Given the description of an element on the screen output the (x, y) to click on. 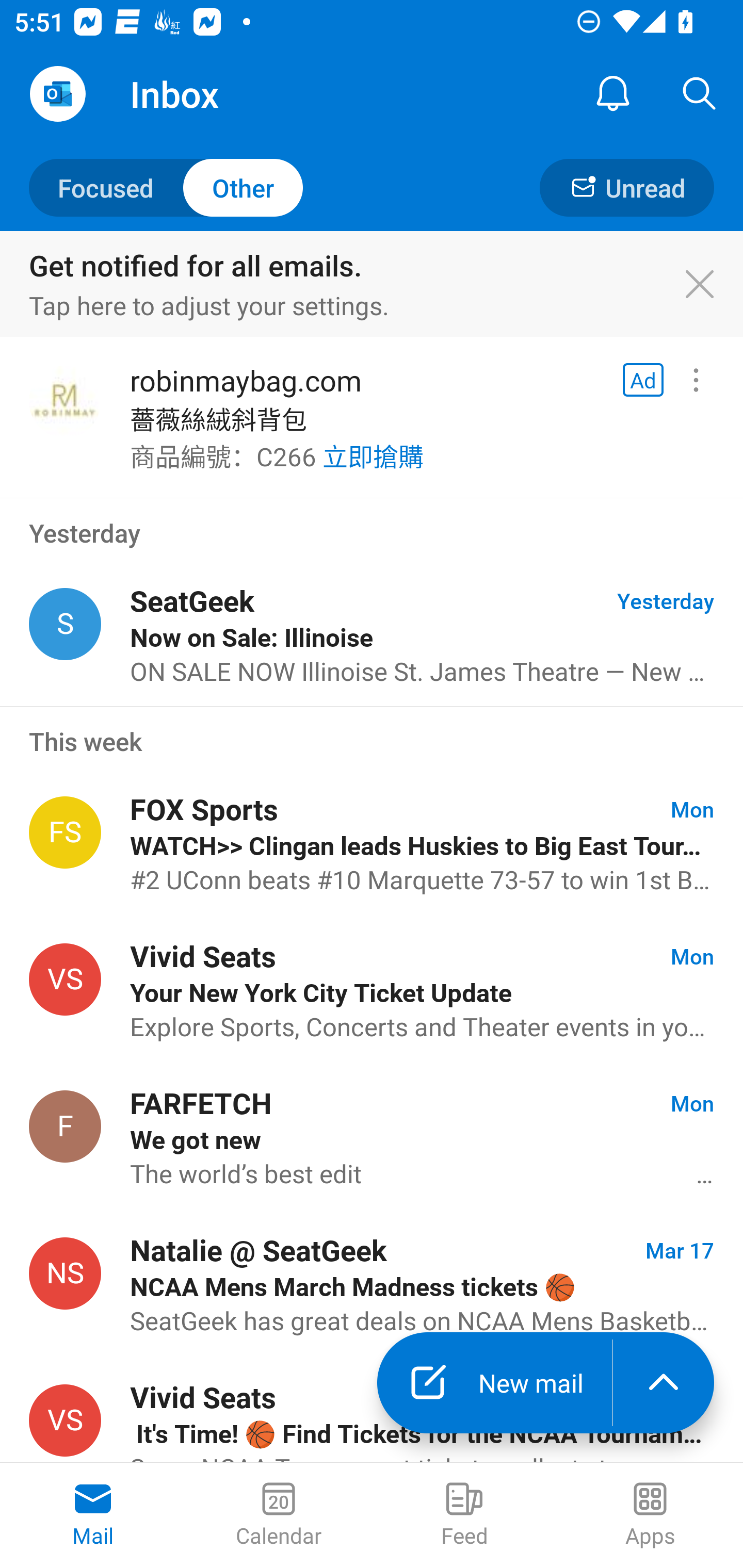
Notification Center (612, 93)
Search, ,  (699, 93)
Open Navigation Drawer (57, 94)
Toggle to Focused Inbox (165, 187)
Close Notification (710, 284)
Ad options menu button (695, 380)
Ad (642, 379)
SeatGeek, events@seatgeek.com (64, 624)
FOX Sports, email@inbox.foxsports.com (64, 832)
Vivid Seats, tickets@live.vividseats.com (64, 979)
FARFETCH, farfetch@email.farfetch.com (64, 1125)
Natalie @ SeatGeek, events@seatgeek.com (64, 1273)
New mail (494, 1382)
launch the extended action menu (663, 1382)
Vivid Seats, tickets@live.vividseats.com (64, 1420)
Calendar (278, 1515)
Feed (464, 1515)
Apps (650, 1515)
